Given the description of an element on the screen output the (x, y) to click on. 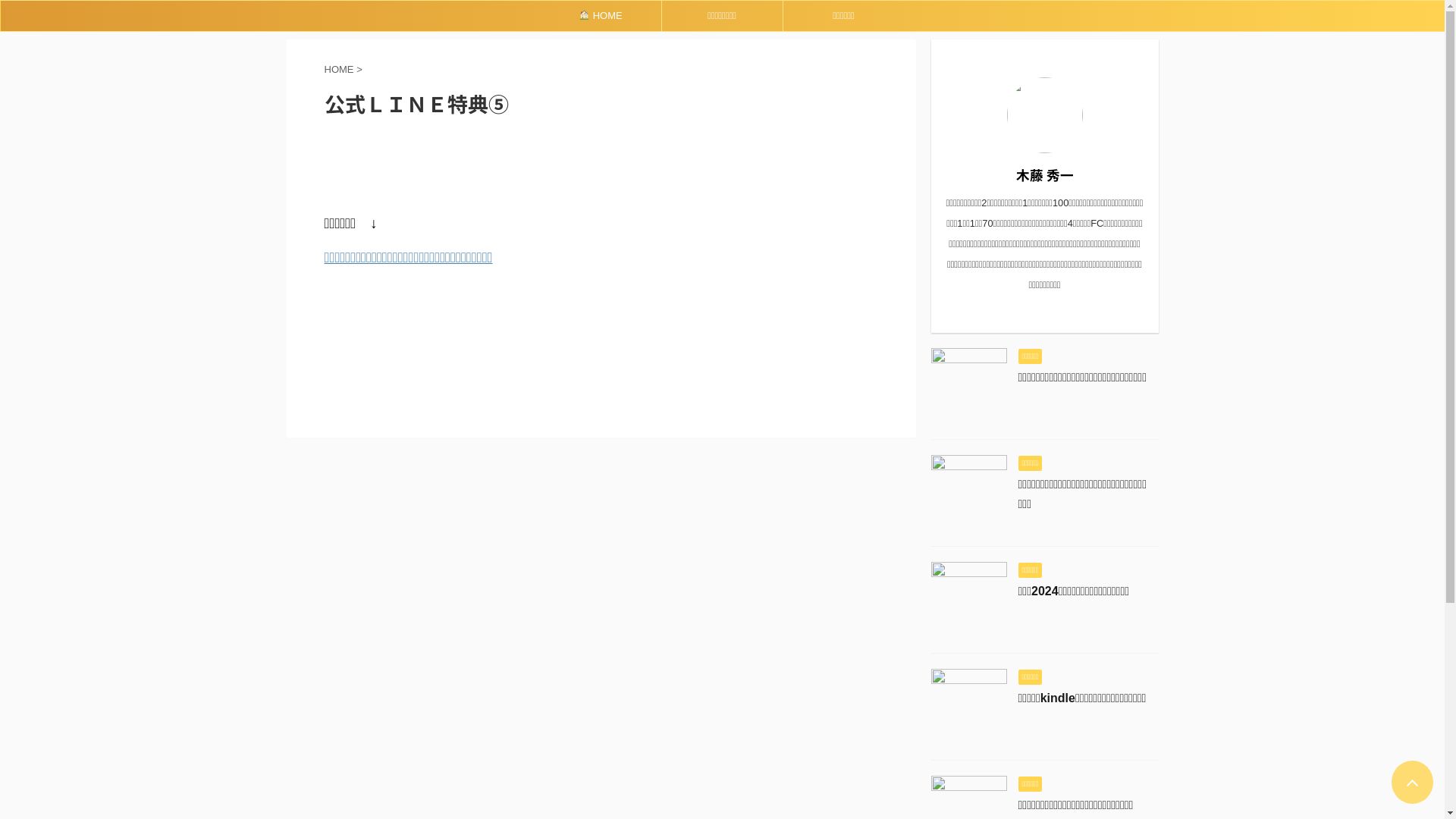
HOME Element type: text (599, 15)
HOME Element type: text (340, 69)
